Given the description of an element on the screen output the (x, y) to click on. 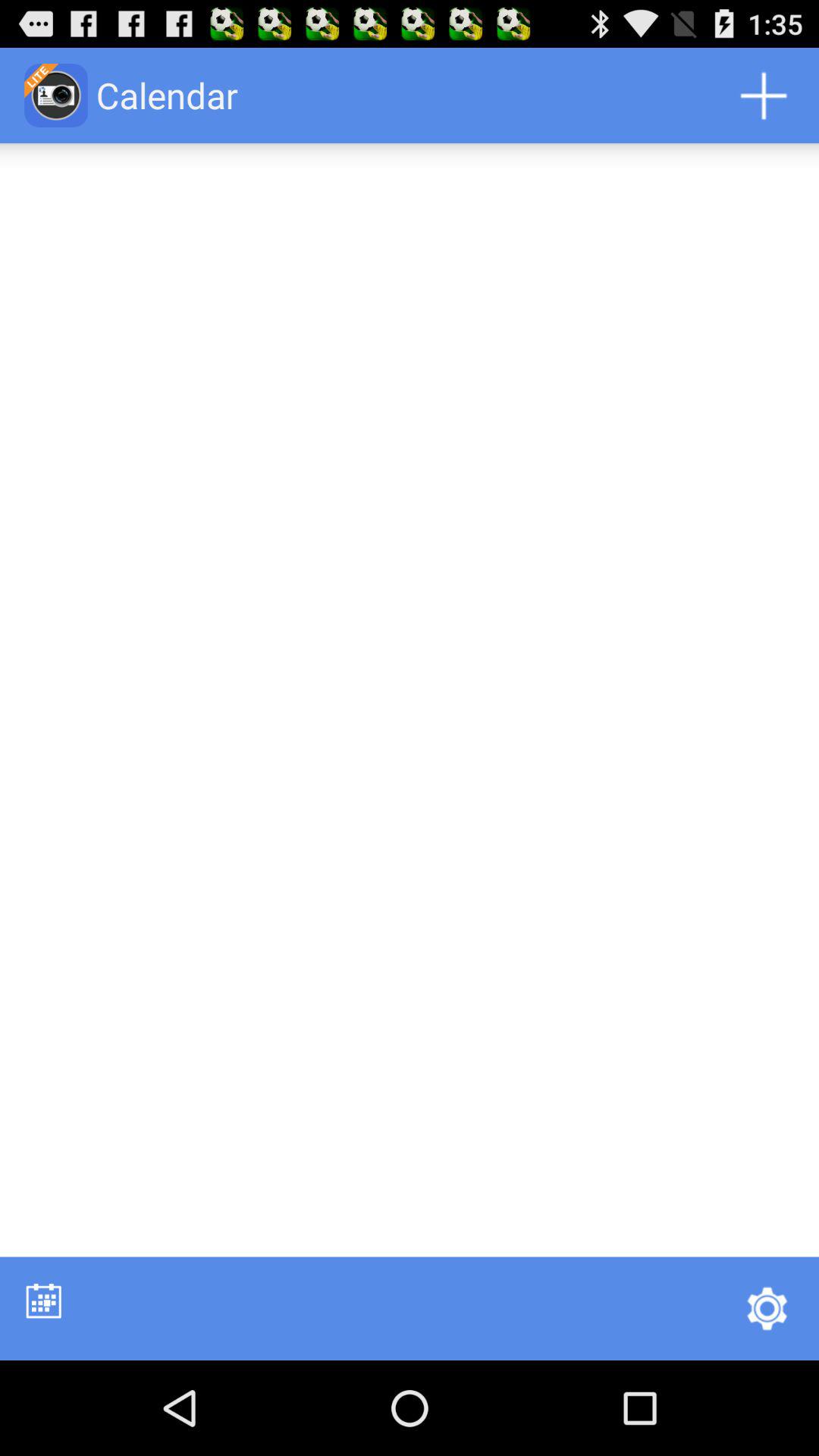
open settings (767, 1308)
